Given the description of an element on the screen output the (x, y) to click on. 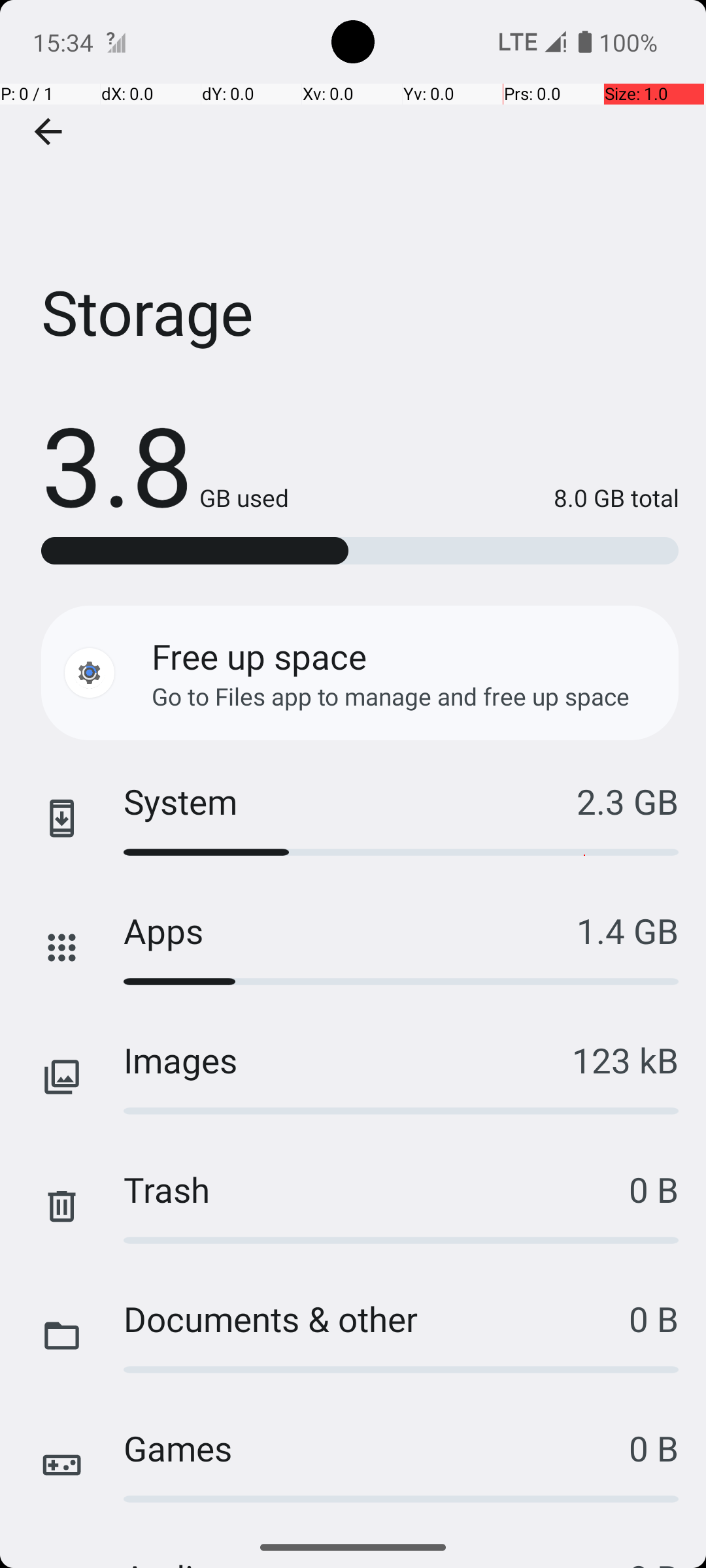
3.8 GB used Element type: android.widget.TextView (164, 463)
1.4 GB Element type: android.widget.TextView (627, 930)
123 kB Element type: android.widget.TextView (624, 1059)
